Given the description of an element on the screen output the (x, y) to click on. 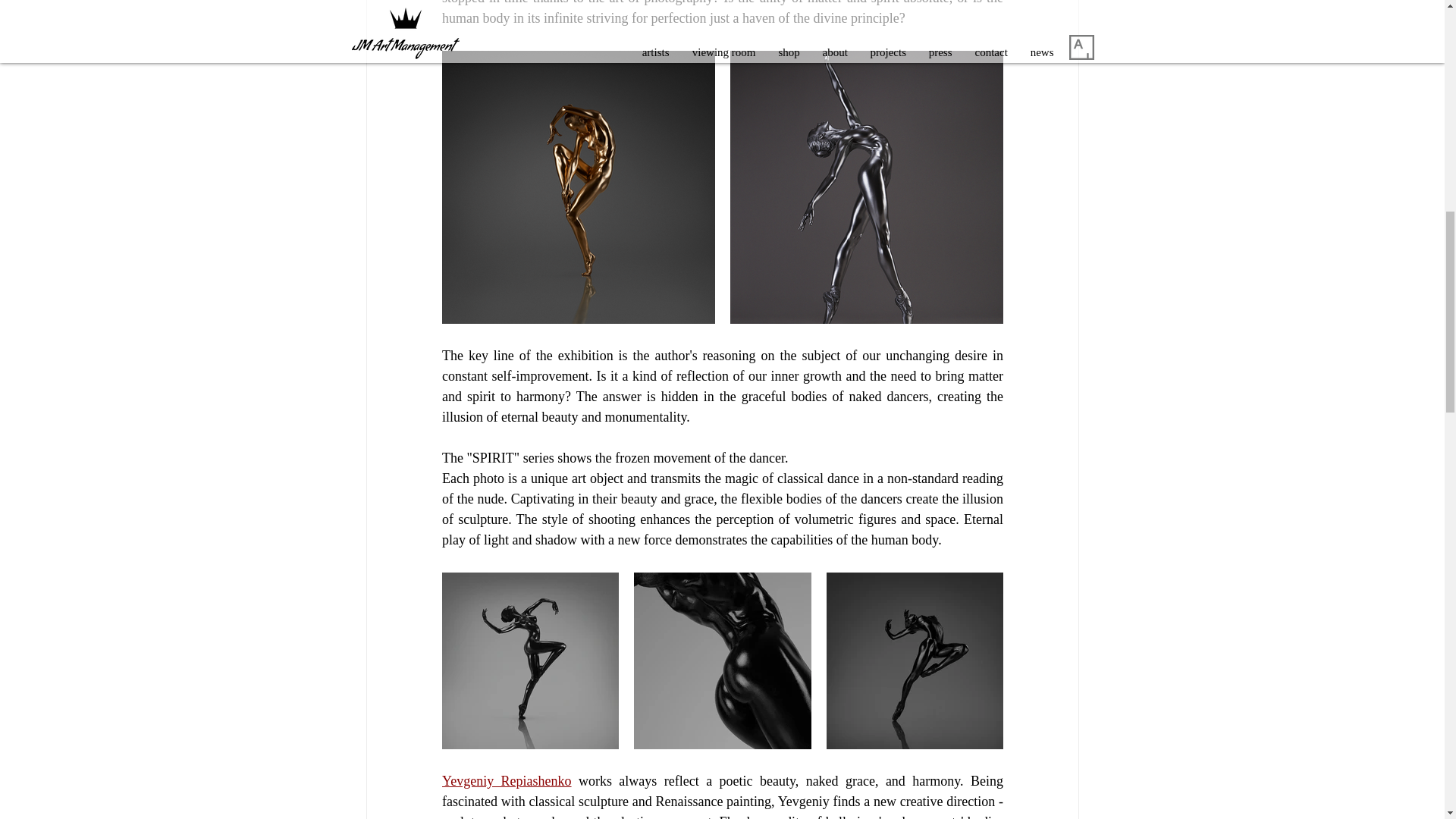
Yevgeniy Repiashenko (505, 780)
